Given the description of an element on the screen output the (x, y) to click on. 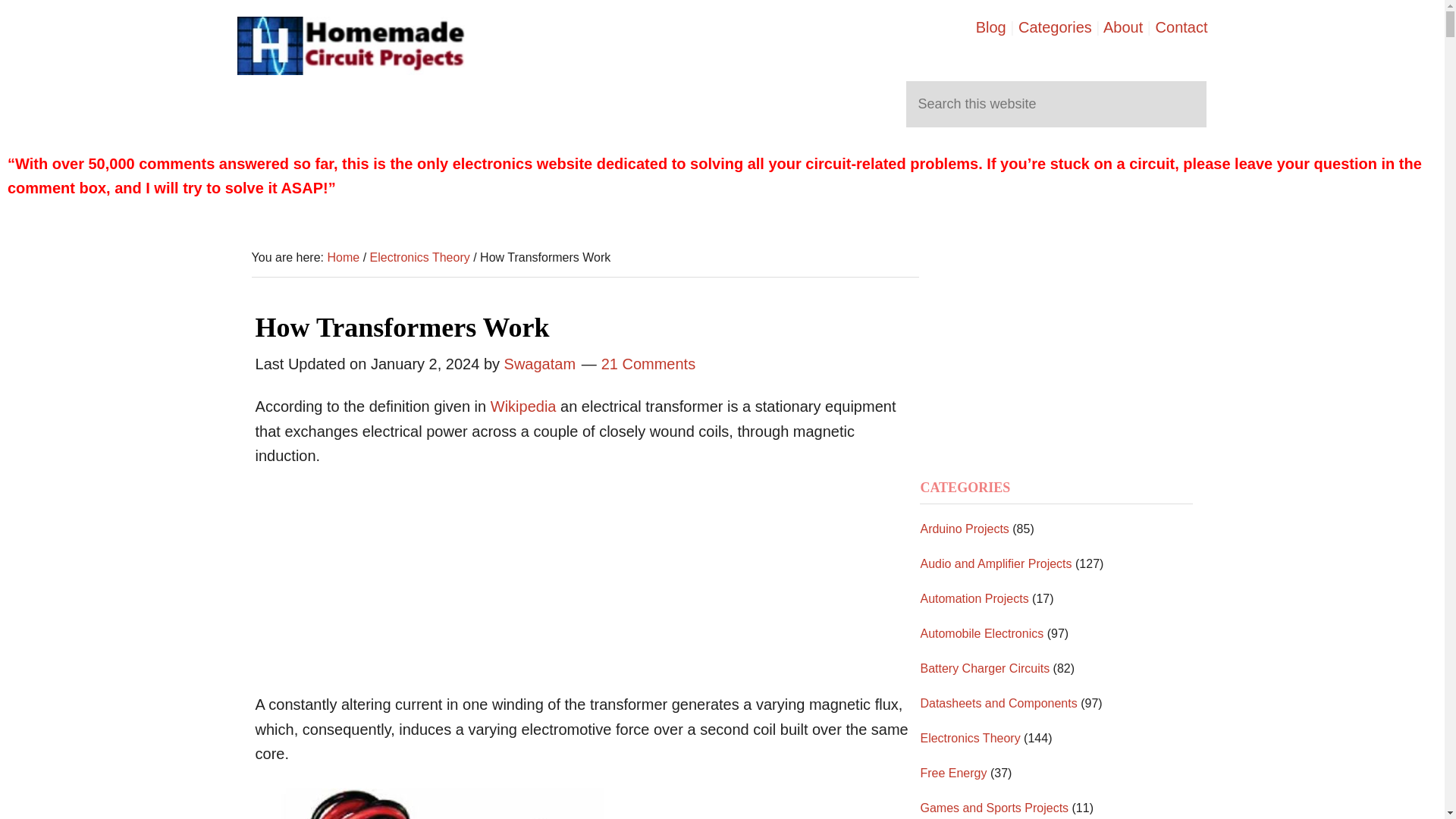
Swagatam (539, 363)
Advertisement (369, 584)
Homemade Circuit Projects (349, 45)
Blog (990, 27)
Electronics Theory (419, 256)
Categories (1054, 27)
Contact (1182, 27)
21 Comments (648, 363)
